Given the description of an element on the screen output the (x, y) to click on. 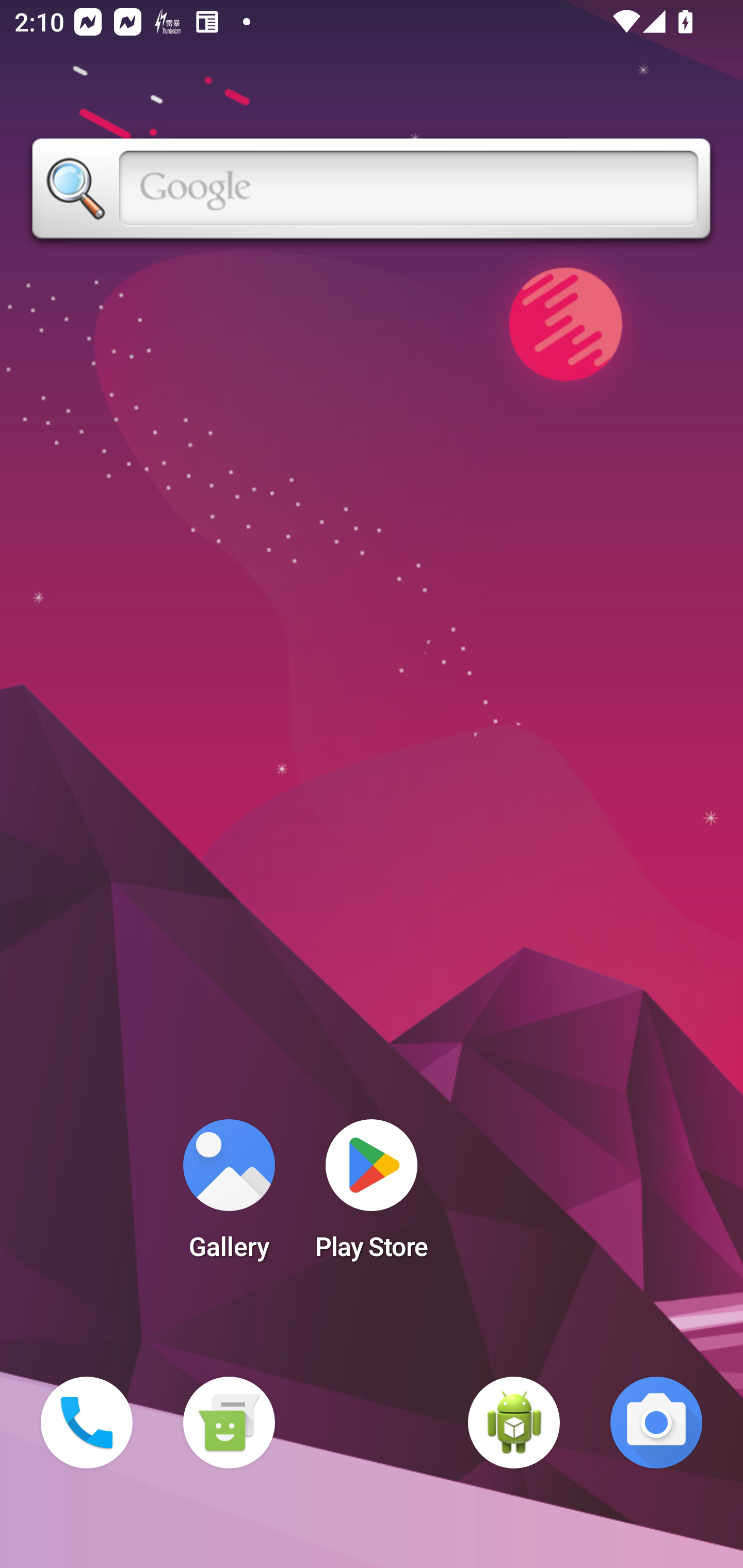
Gallery (228, 1195)
Play Store (371, 1195)
Phone (86, 1422)
Messaging (228, 1422)
WebView Browser Tester (513, 1422)
Camera (656, 1422)
